Given the description of an element on the screen output the (x, y) to click on. 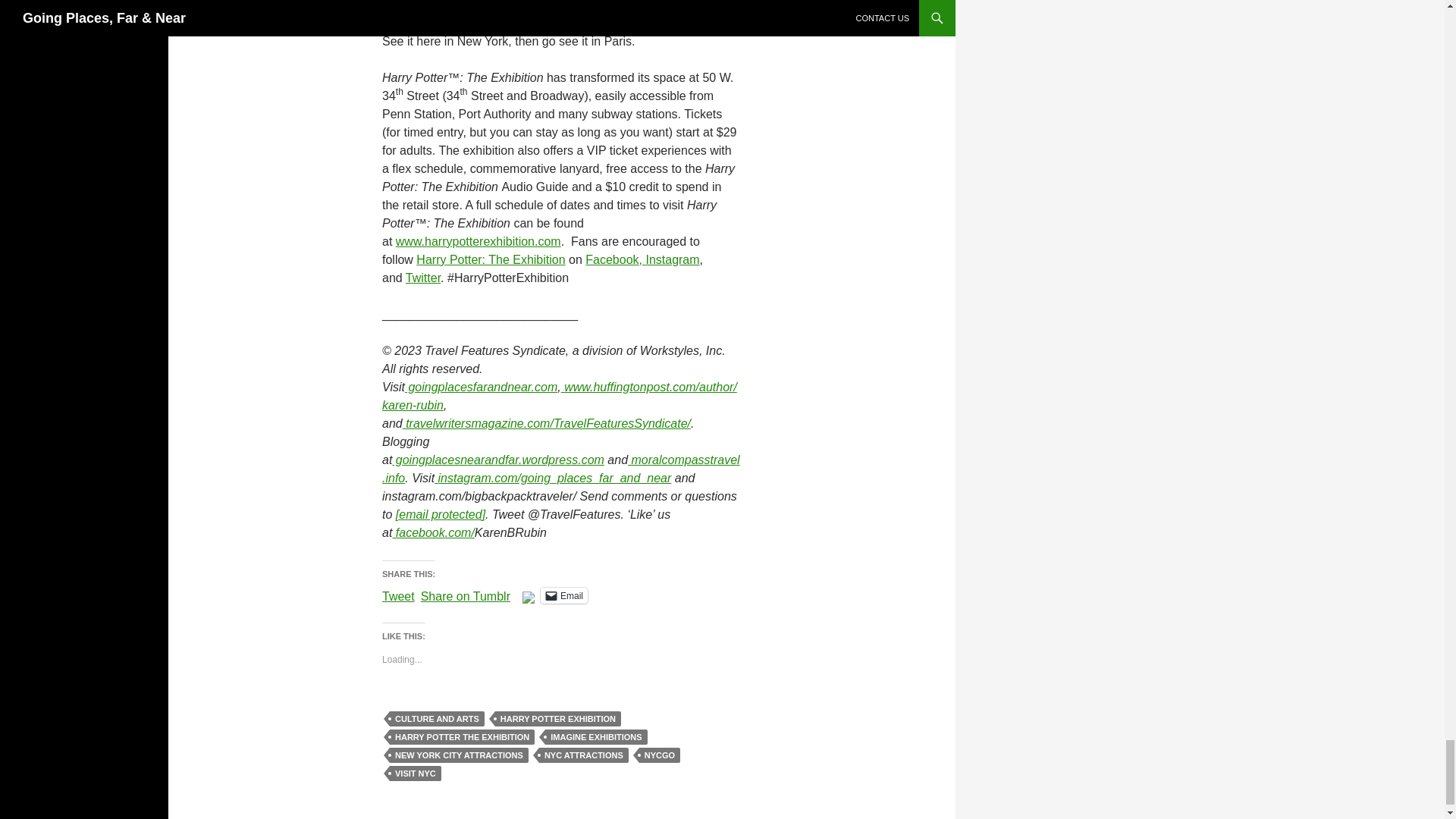
Click to email a link to a friend (564, 595)
www.harrypotterexhibition.com (478, 241)
 goingplacesfarandnear.com (480, 386)
Harry Potter: The Exhibition (490, 259)
 moralcompasstravel.info (560, 468)
Instagram (671, 259)
Facebook (612, 259)
Share on Tumblr (465, 594)
Twitter (423, 277)
 goingplacesnearandfar.wordpress.com (497, 459)
